Given the description of an element on the screen output the (x, y) to click on. 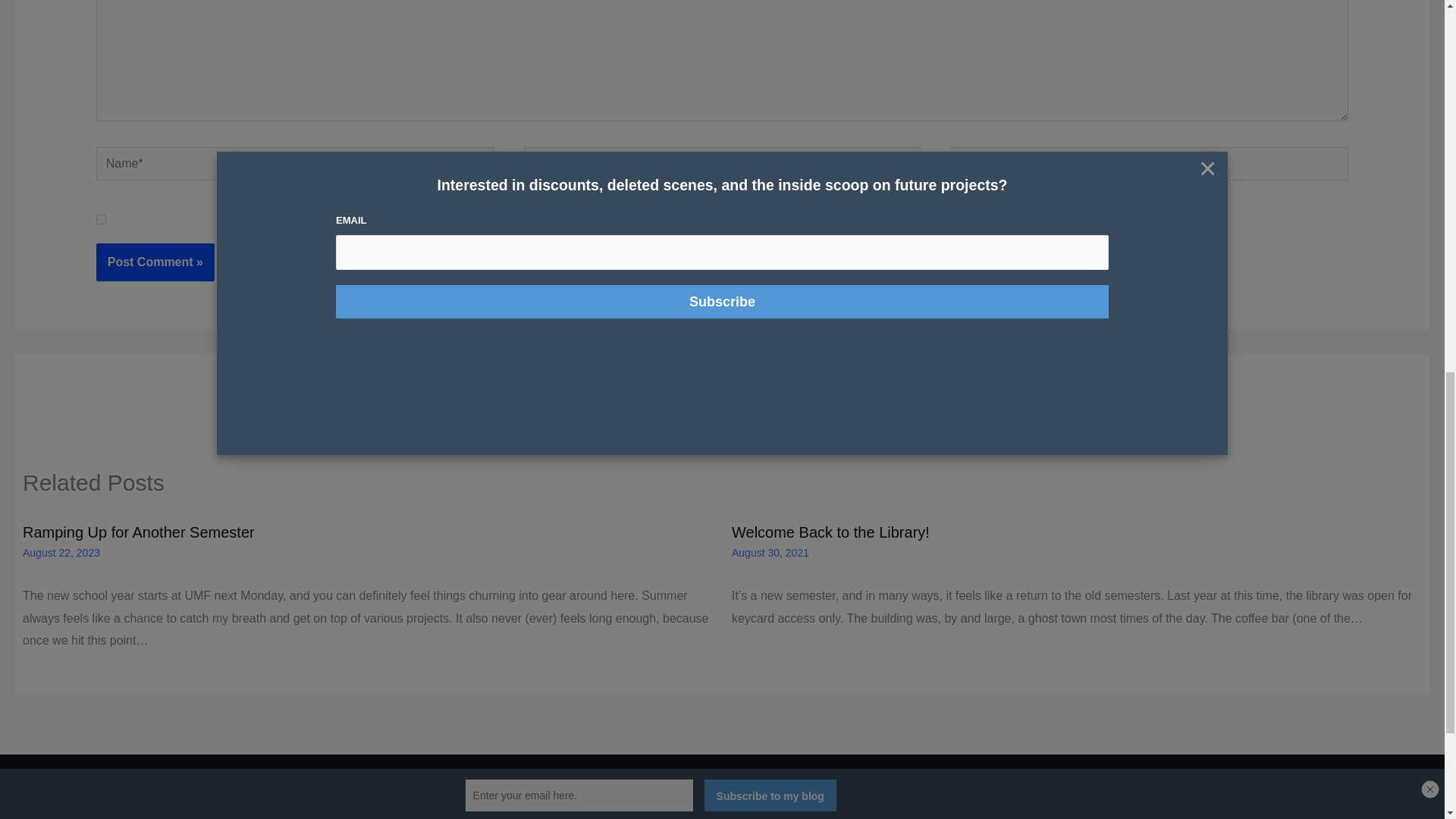
Ramping Up for Another Semester (138, 532)
Blog (789, 816)
Books (684, 816)
Welcome Back to the Library! (831, 532)
Subscribe (741, 816)
1 (101, 219)
Bio (650, 816)
